Given the description of an element on the screen output the (x, y) to click on. 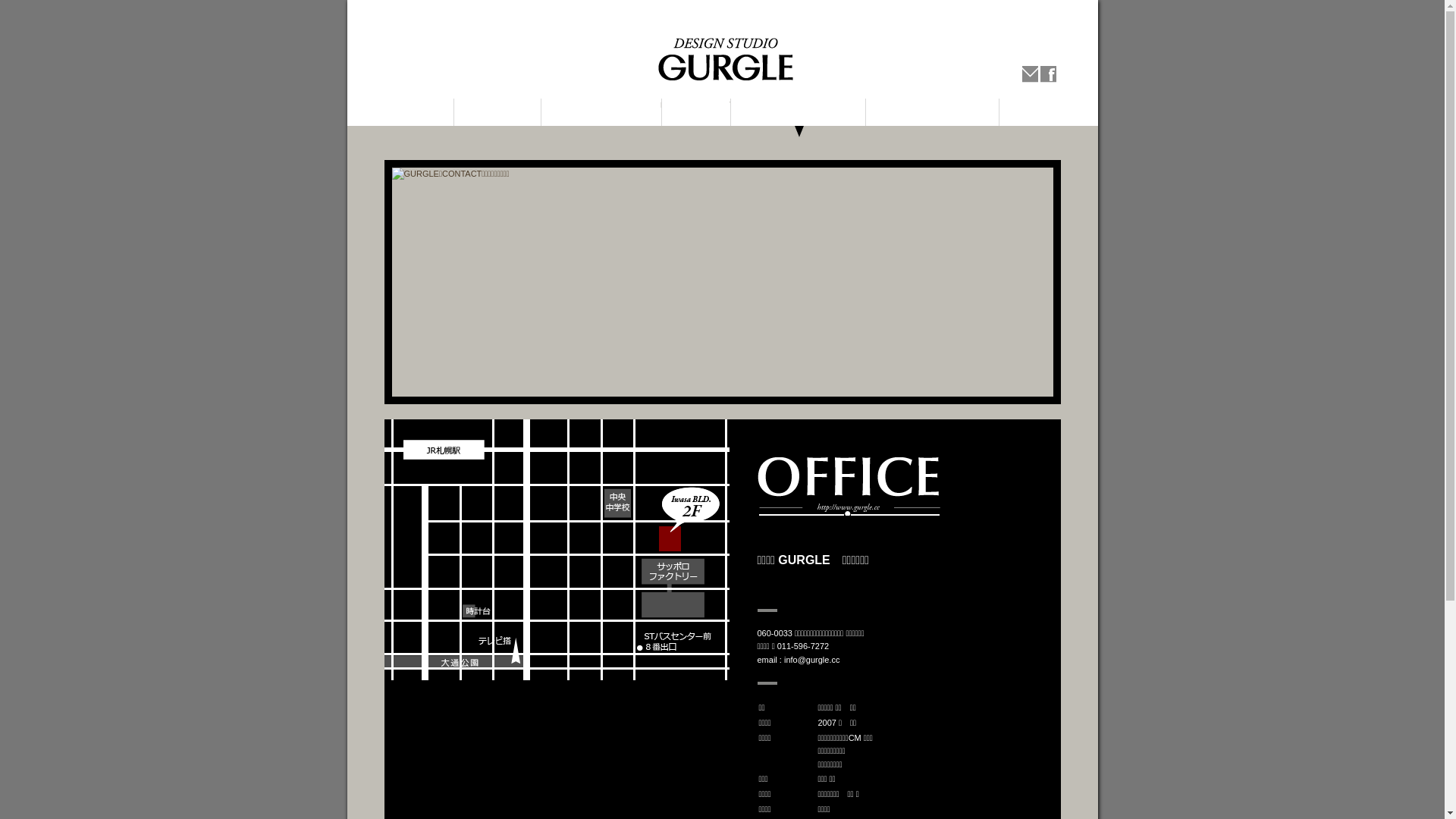
WORKS Element type: text (695, 111)
GURGLE WEDDING Element type: text (932, 111)
